Given the description of an element on the screen output the (x, y) to click on. 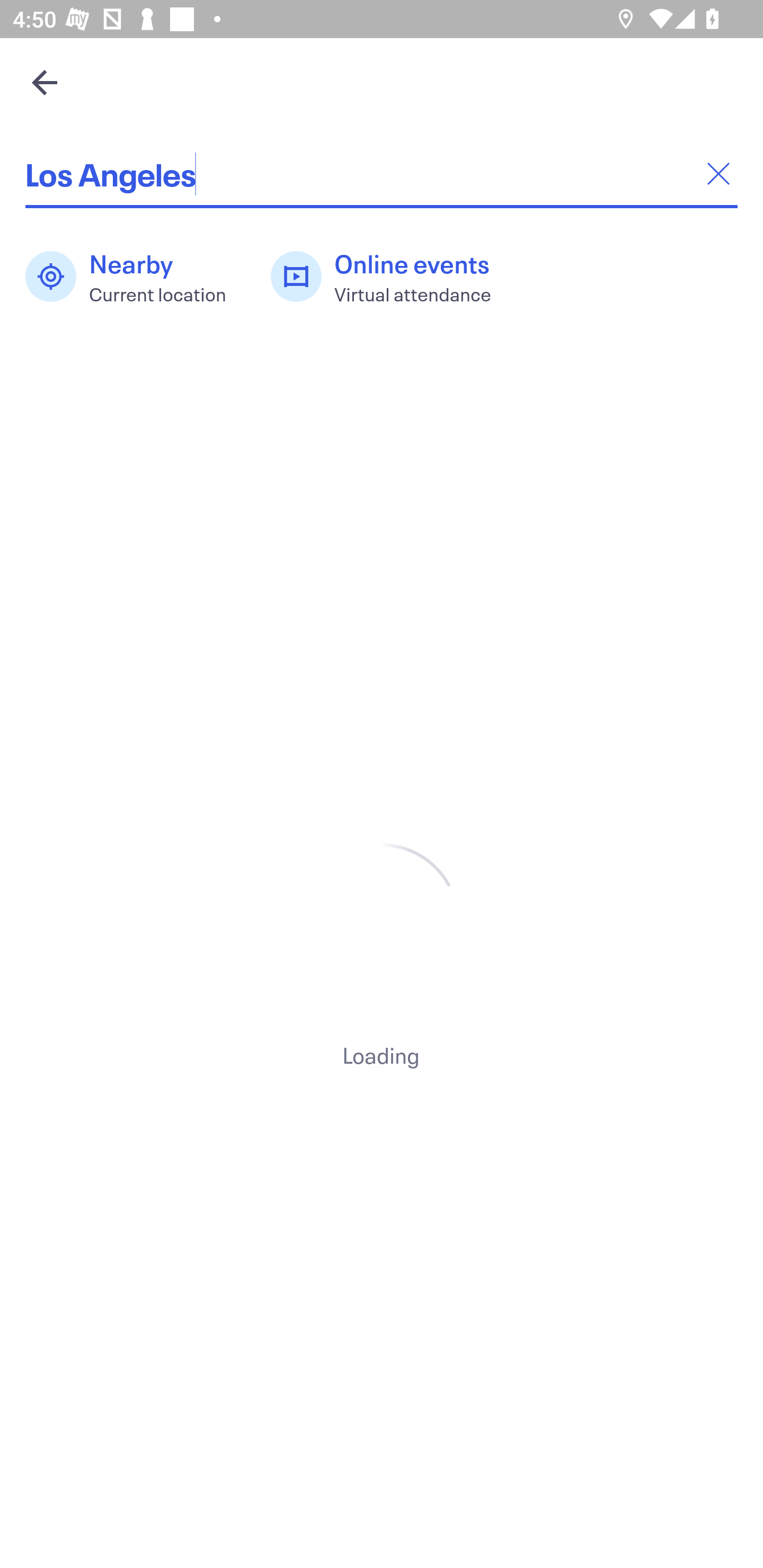
Navigate up (44, 82)
Los Angeles (381, 173)
Nearby Current location (135, 276)
Online events Virtual attendance (390, 276)
